Given the description of an element on the screen output the (x, y) to click on. 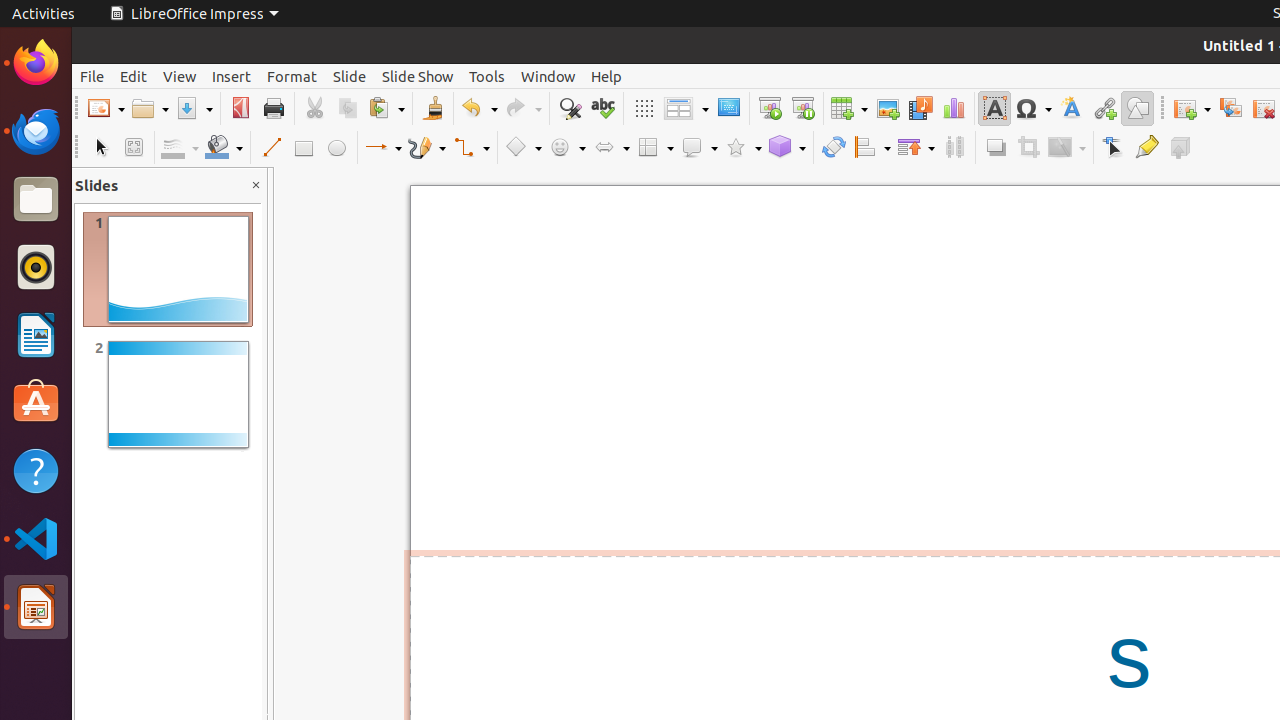
Zoom & Pan Element type: push-button (133, 147)
Edit Points Element type: push-button (1113, 147)
Arrange Element type: push-button (916, 147)
File Element type: menu (92, 76)
Cut Element type: push-button (314, 108)
